Given the description of an element on the screen output the (x, y) to click on. 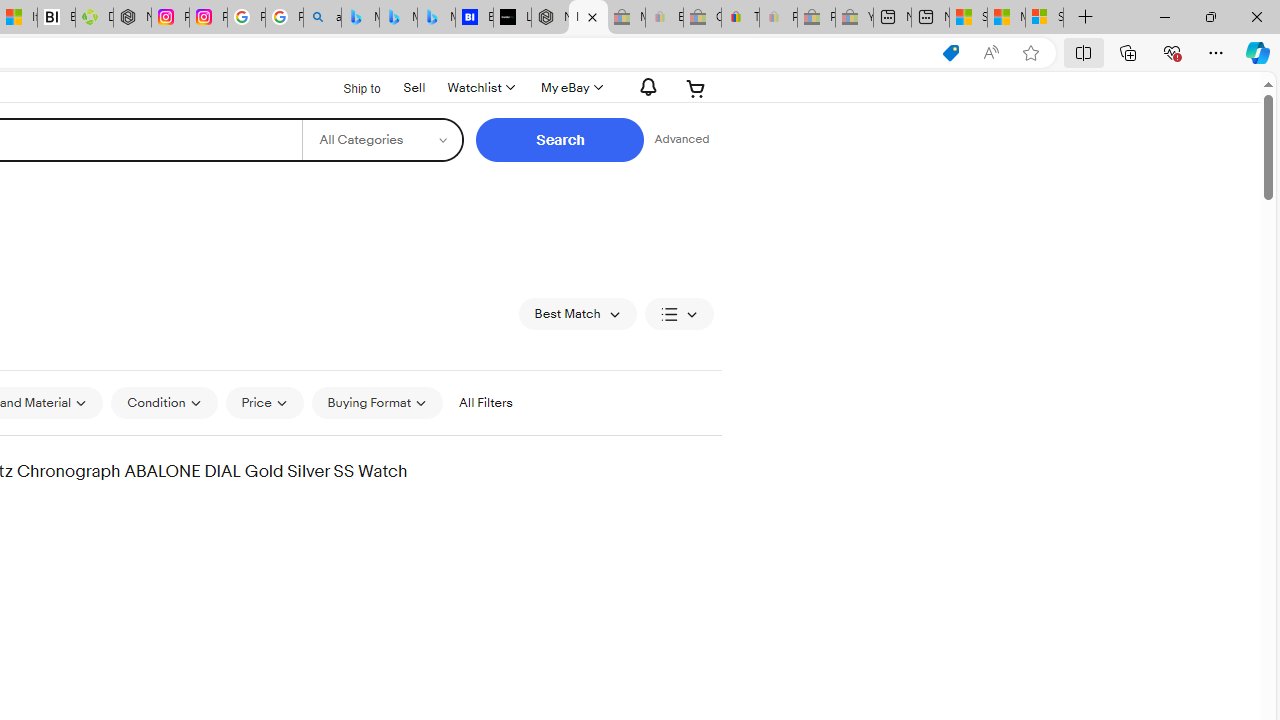
Condition (164, 402)
All Filters (485, 403)
Price (264, 402)
Advanced Search (681, 139)
Ship to (349, 89)
